Given the description of an element on the screen output the (x, y) to click on. 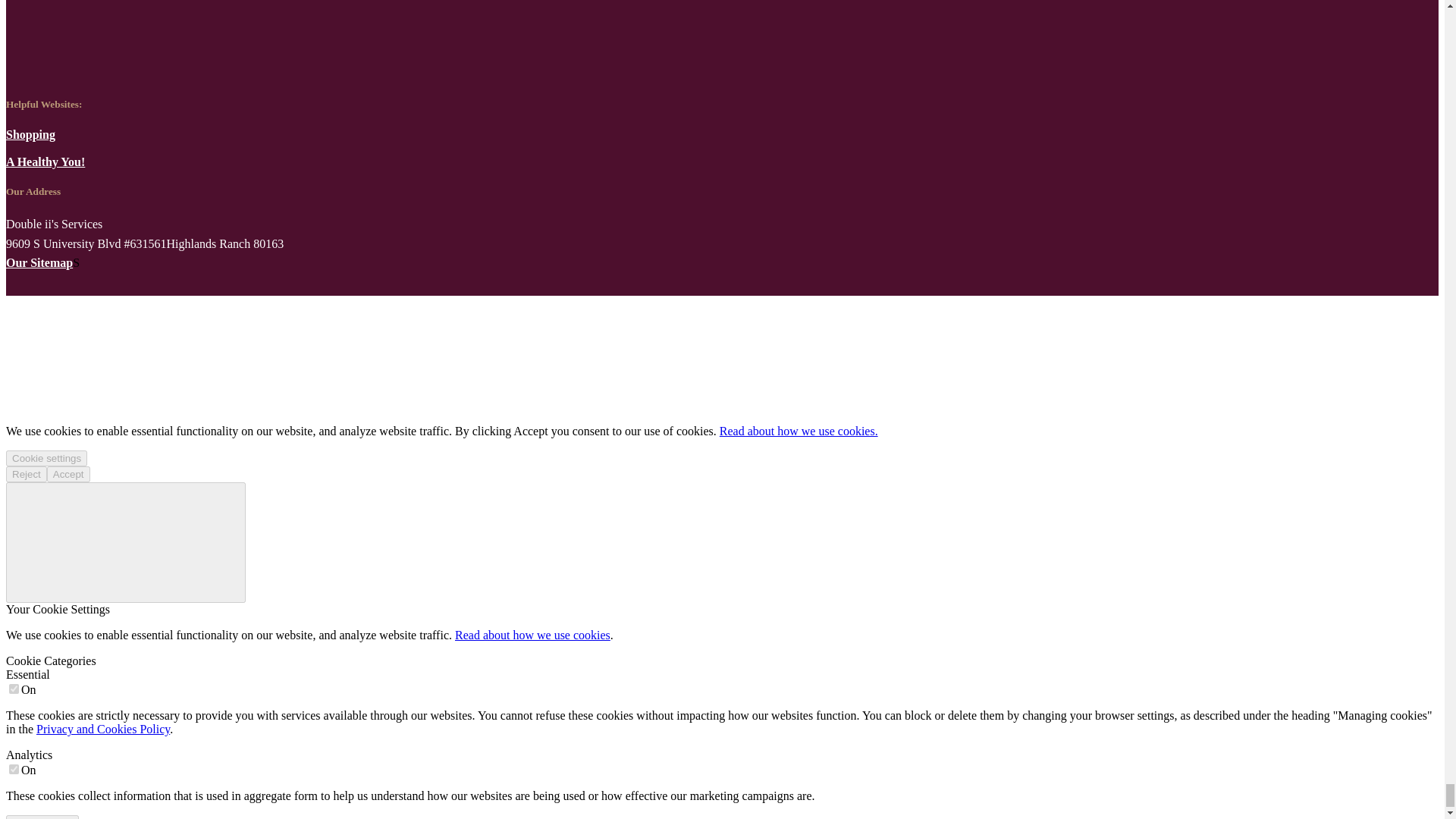
on (13, 688)
Privacy and Cookies Policy (103, 728)
Read about how we use cookies. (798, 431)
Read about how we use cookies (532, 634)
Reject (25, 474)
Accept (68, 474)
Cookie settings (46, 458)
on (13, 768)
A Healthy You! (44, 161)
Shopping (30, 133)
